Given the description of an element on the screen output the (x, y) to click on. 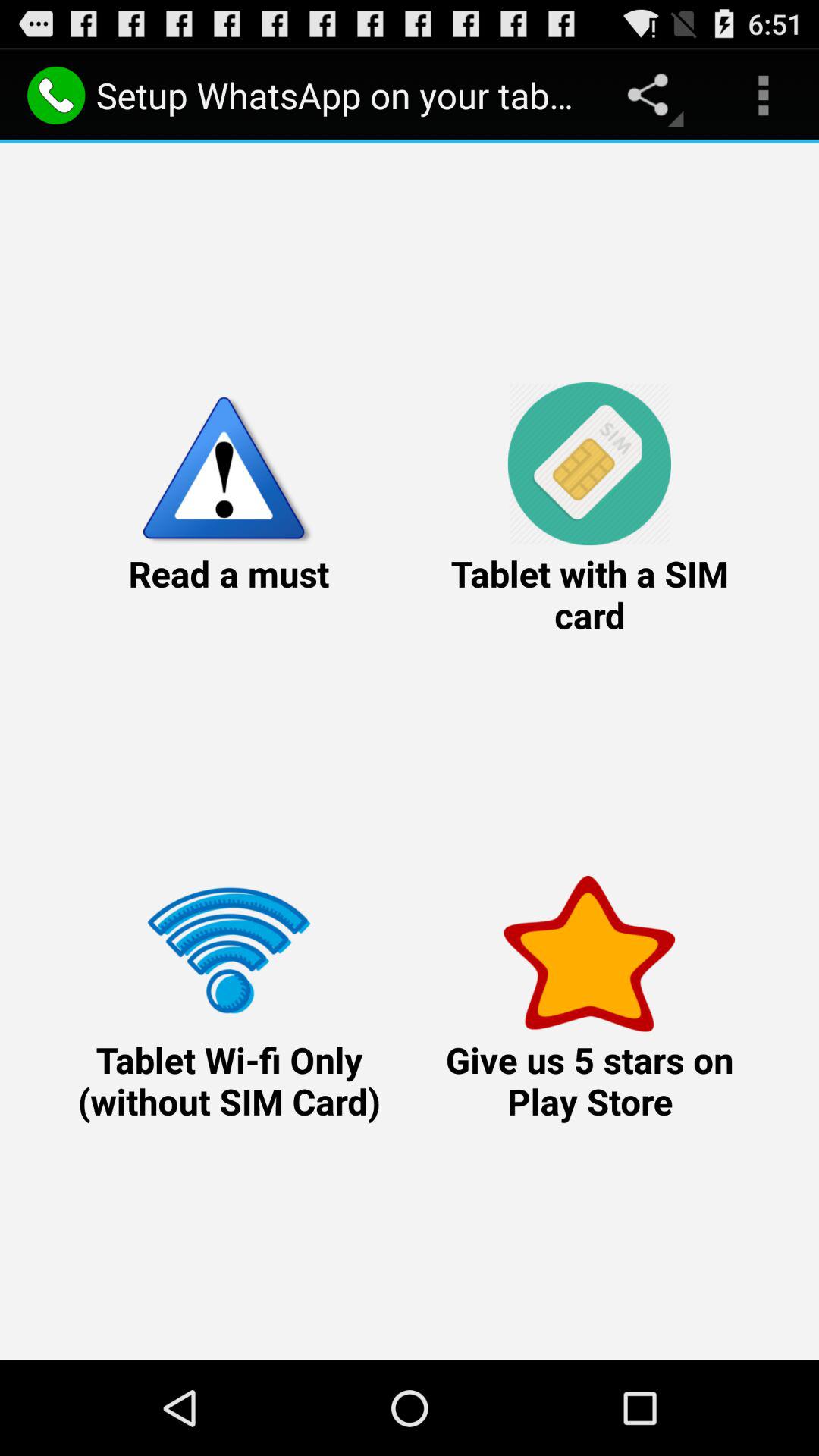
choose icon above the tablet with a icon (763, 95)
